Given the description of an element on the screen output the (x, y) to click on. 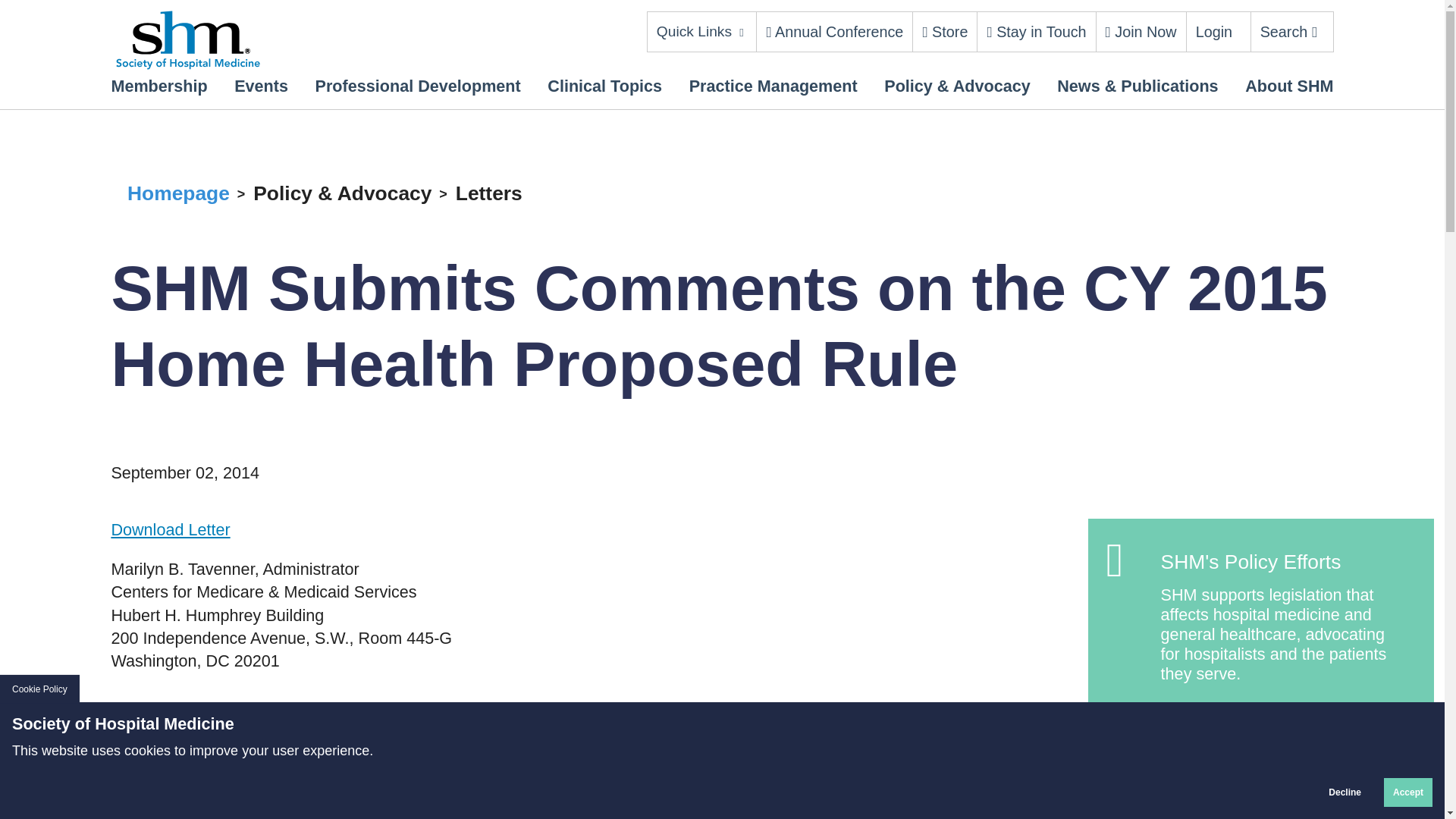
Store (944, 31)
Membership (158, 85)
Annual Conference (834, 31)
Quick Links (702, 32)
Join Now (1141, 31)
Events (261, 85)
Login (1213, 31)
Stay in Touch (1035, 31)
